Given the description of an element on the screen output the (x, y) to click on. 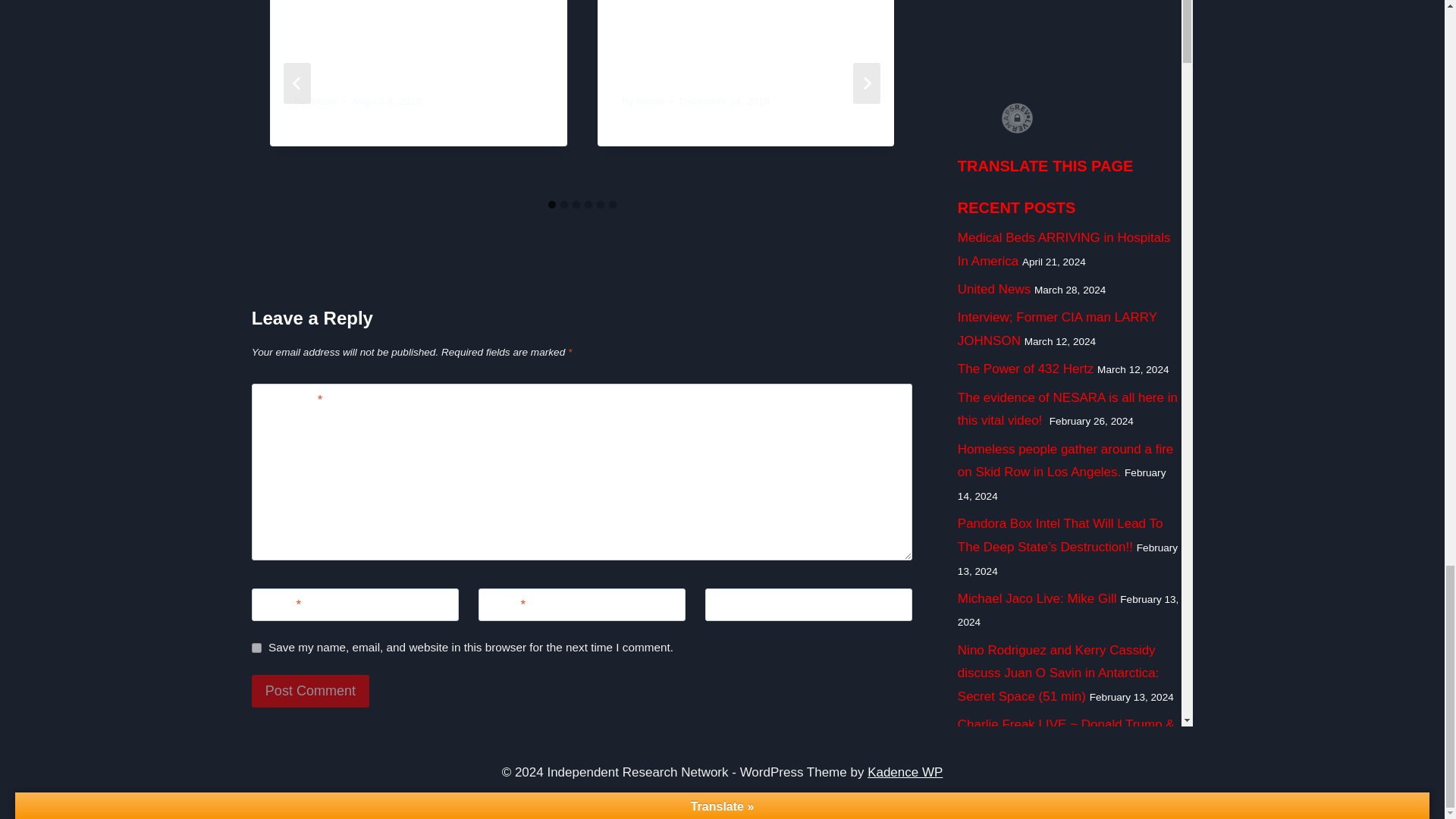
yes (256, 647)
Post Comment (310, 690)
